Given the description of an element on the screen output the (x, y) to click on. 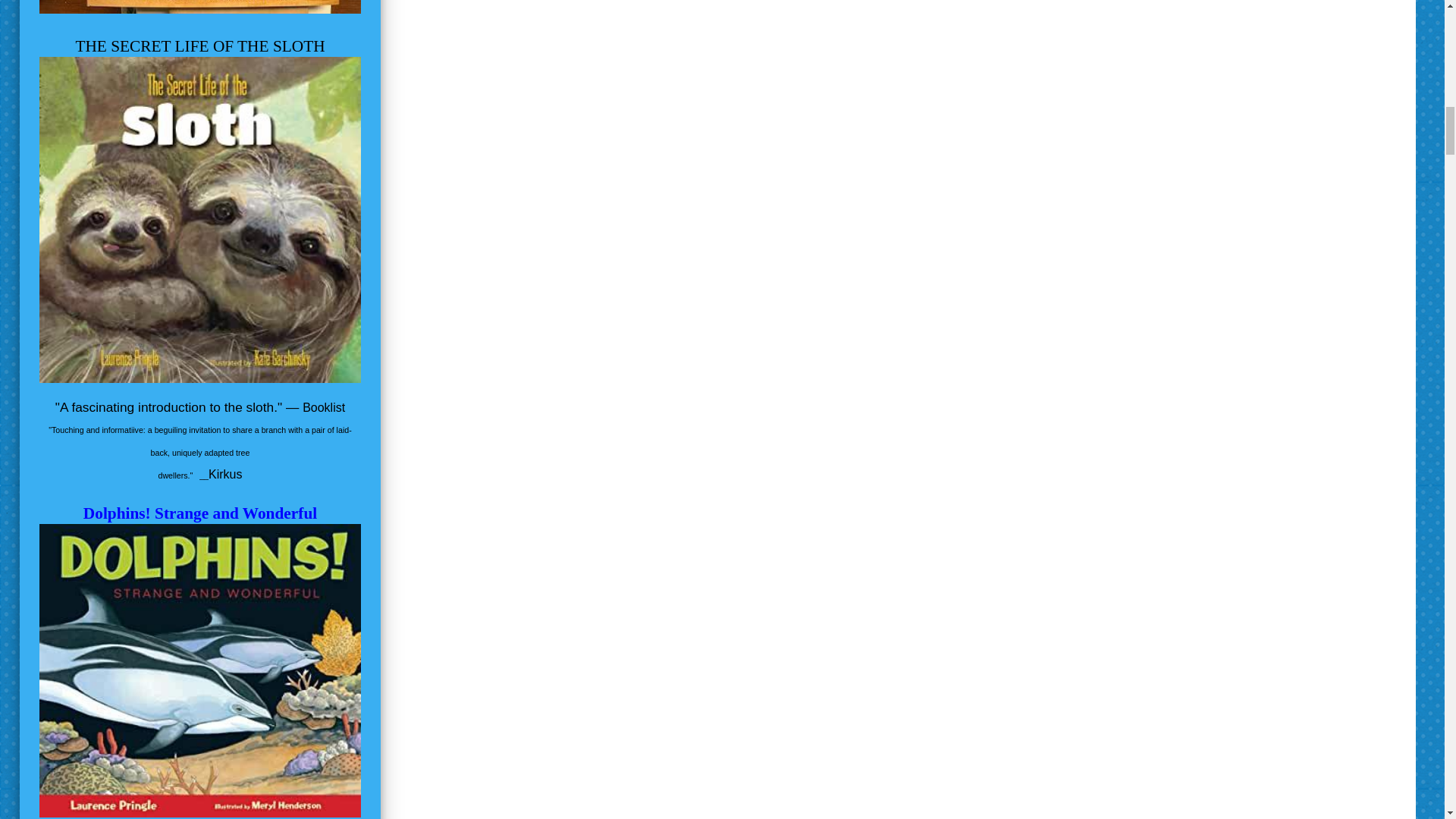
Dolphins! Strange and Wonderful (199, 513)
THE SECRET LIFE OF THE SLOTH (199, 45)
